Given the description of an element on the screen output the (x, y) to click on. 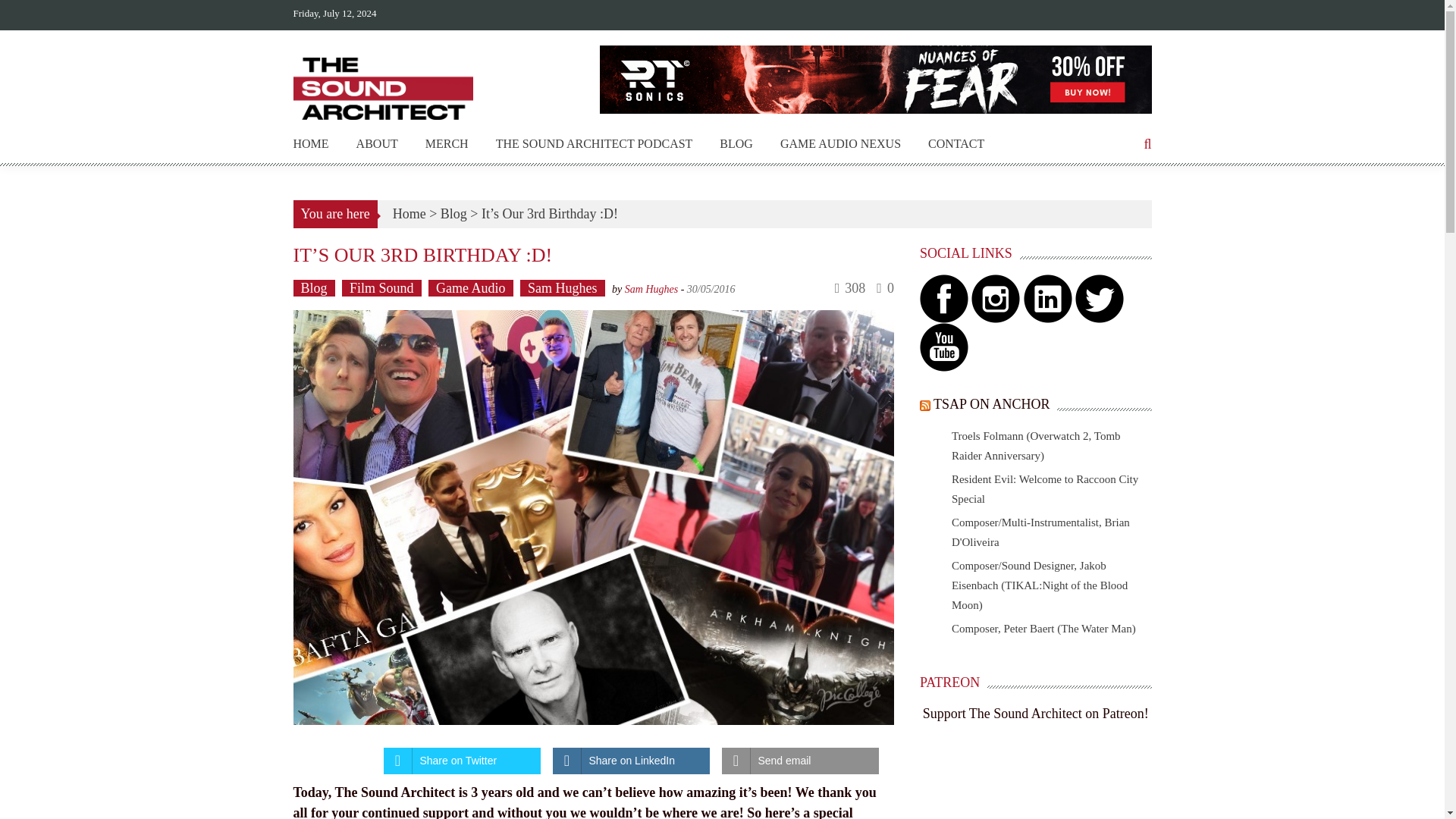
Send email (800, 760)
CONTACT (956, 144)
MERCH (446, 144)
Share on LinkedIn (630, 760)
Game Audio (470, 288)
Share on LinkedIn (630, 760)
Blog (454, 213)
Sam Hughes (651, 288)
HOME (310, 144)
Search (862, 422)
GAME AUDIO NEXUS (840, 144)
Share on Twitter (462, 760)
Film Sound (382, 288)
THE SOUND ARCHITECT PODCAST (594, 144)
The Sound Architect Podcast (594, 144)
